Given the description of an element on the screen output the (x, y) to click on. 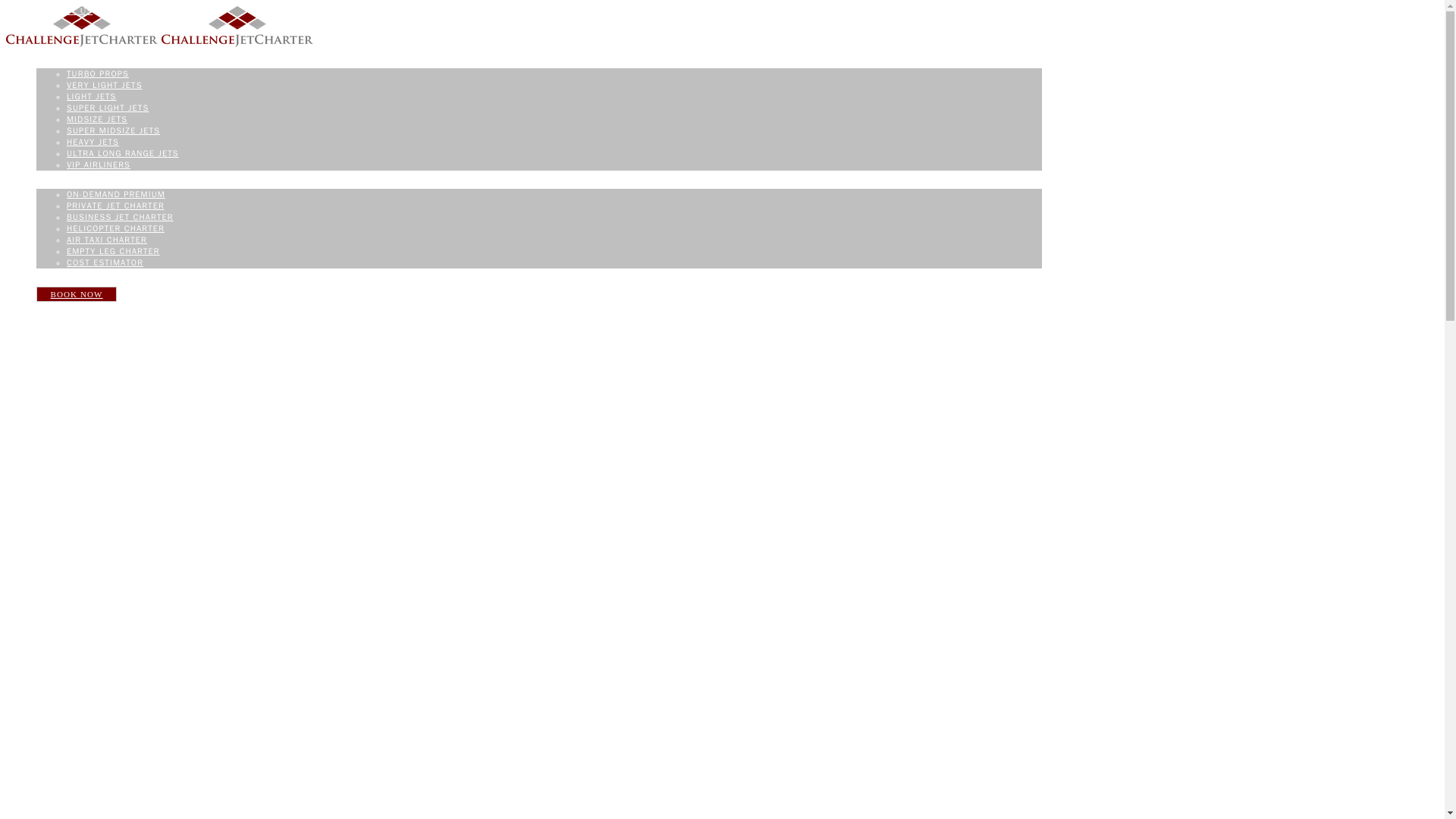
SUPER LIGHT JETS (107, 107)
VIP AIRLINERS (98, 163)
BOOK NOW (76, 293)
HELICOPTER CHARTER (115, 227)
SERVICES (58, 184)
BUSINESS JET CHARTER (119, 216)
SUPER MIDSIZE JETS (113, 130)
BLOG (49, 272)
FAQ (15, 10)
COST ESTIMATOR (104, 262)
